Given the description of an element on the screen output the (x, y) to click on. 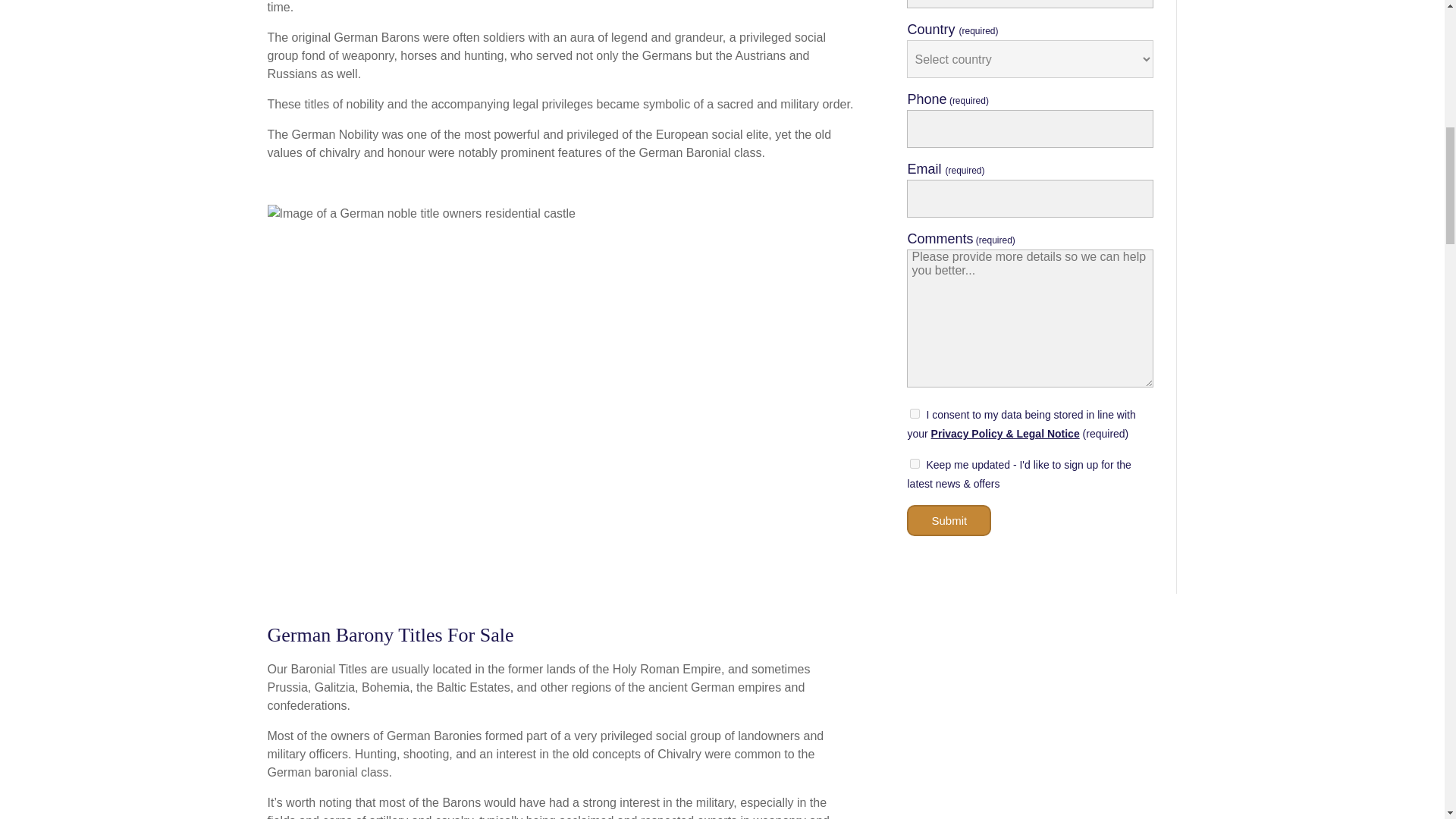
1 (915, 413)
Submit (949, 520)
Submit (949, 520)
1 (915, 463)
